Given the description of an element on the screen output the (x, y) to click on. 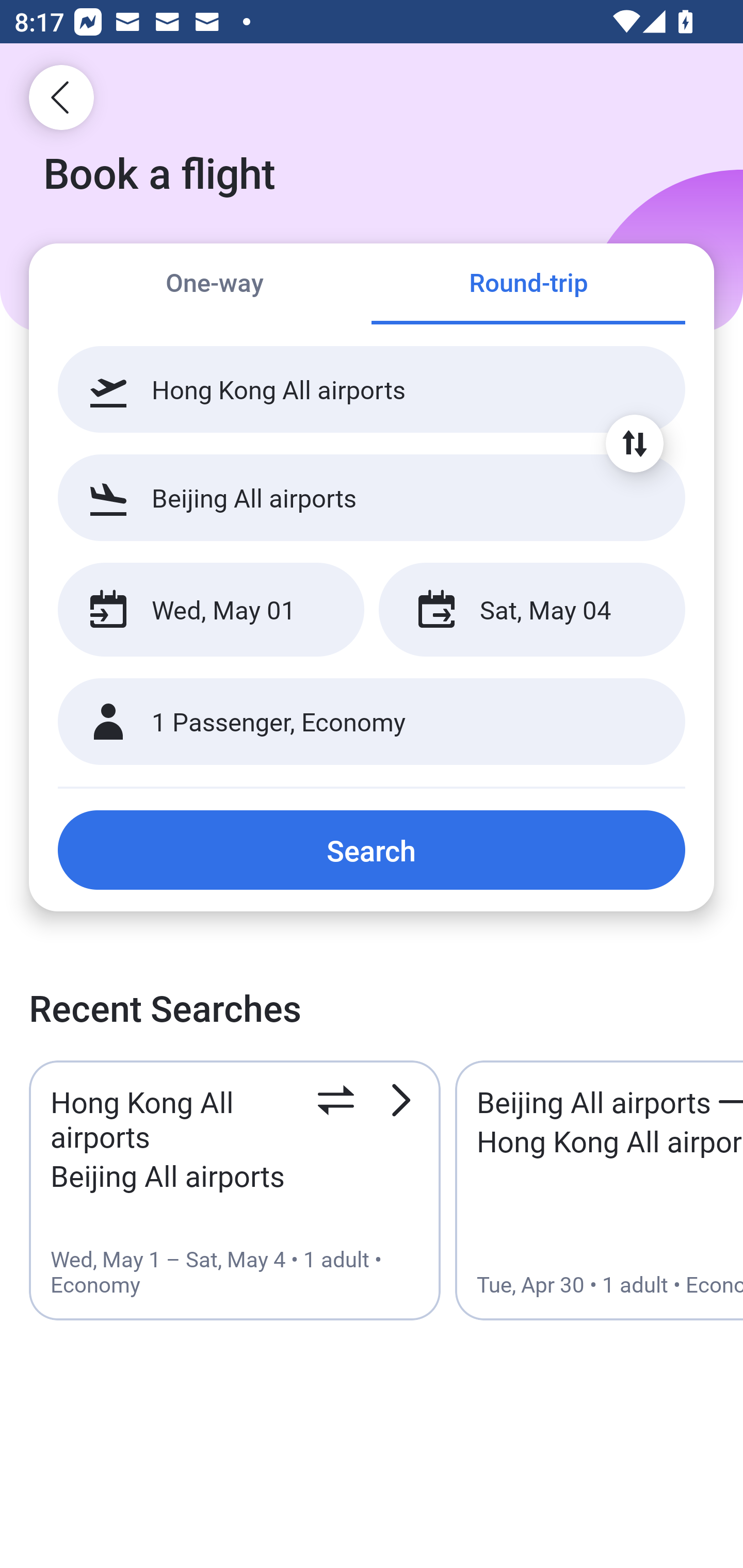
One-way (214, 284)
Hong Kong All airports (371, 389)
Beijing All airports (371, 497)
Wed, May 01 (210, 609)
Sat, May 04 (531, 609)
1 Passenger, Economy (371, 721)
Search (371, 849)
